Given the description of an element on the screen output the (x, y) to click on. 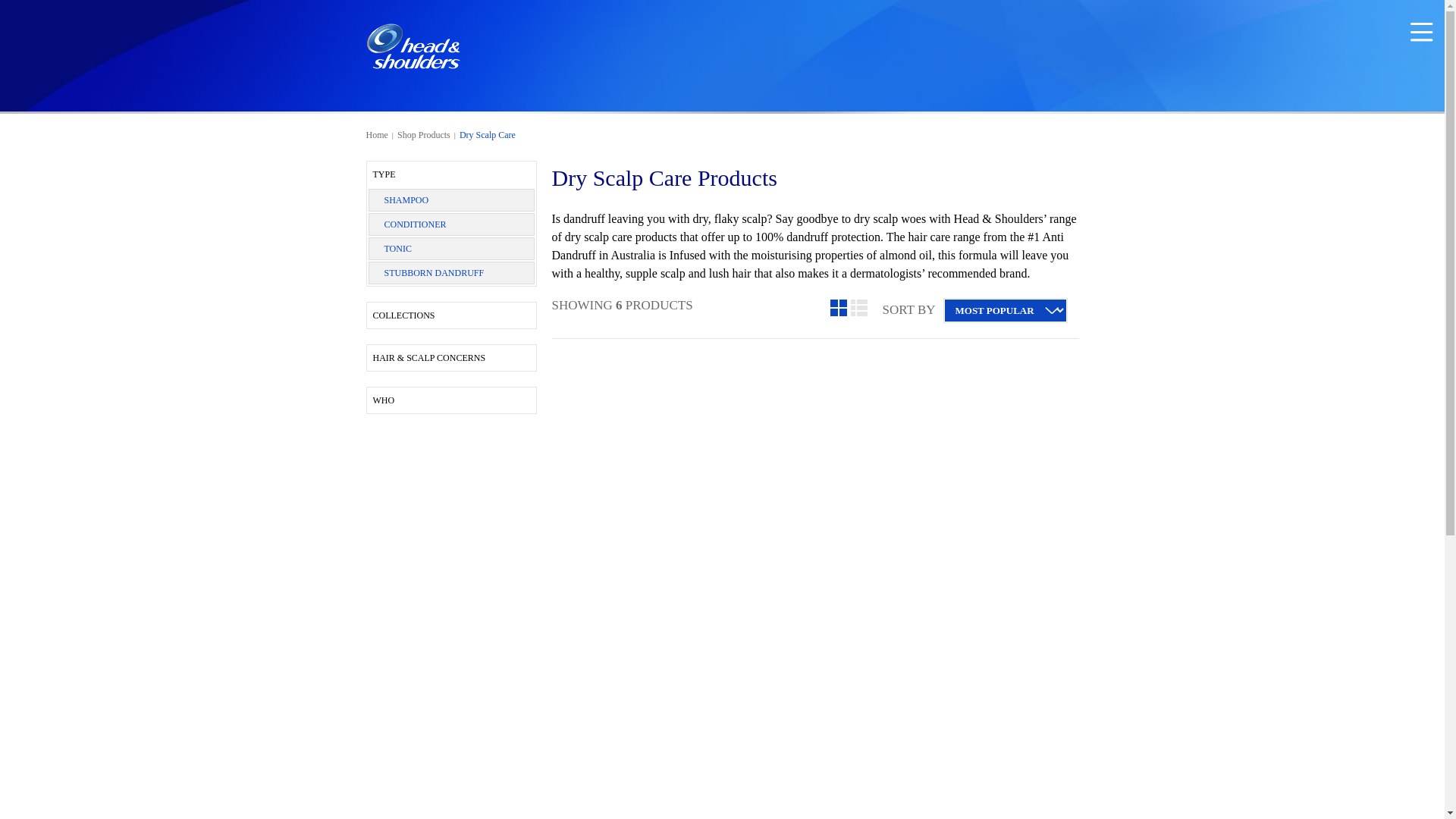
STUBBORN DANDRUFF Element type: text (433, 272)
Shop Products Element type: text (423, 134)
SHAMPOO Element type: text (405, 199)
TONIC Element type: text (397, 248)
Head & Shoulders Dandruff Shampoo Element type: hover (412, 45)
Skip to main content Element type: text (50, 8)
Home Element type: text (376, 134)
CONDITIONER Element type: text (414, 224)
